Given the description of an element on the screen output the (x, y) to click on. 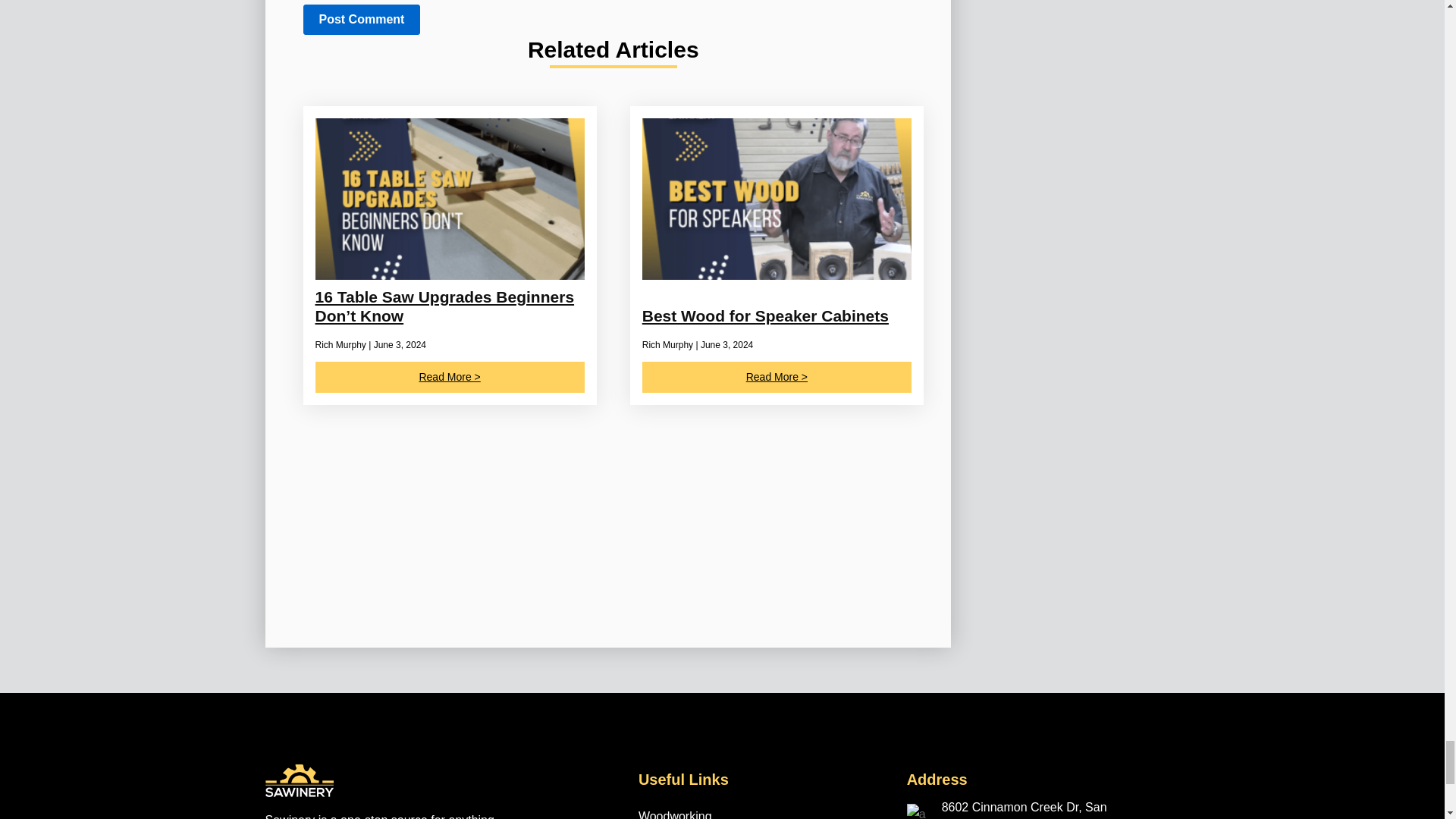
Post Comment (361, 19)
